Given the description of an element on the screen output the (x, y) to click on. 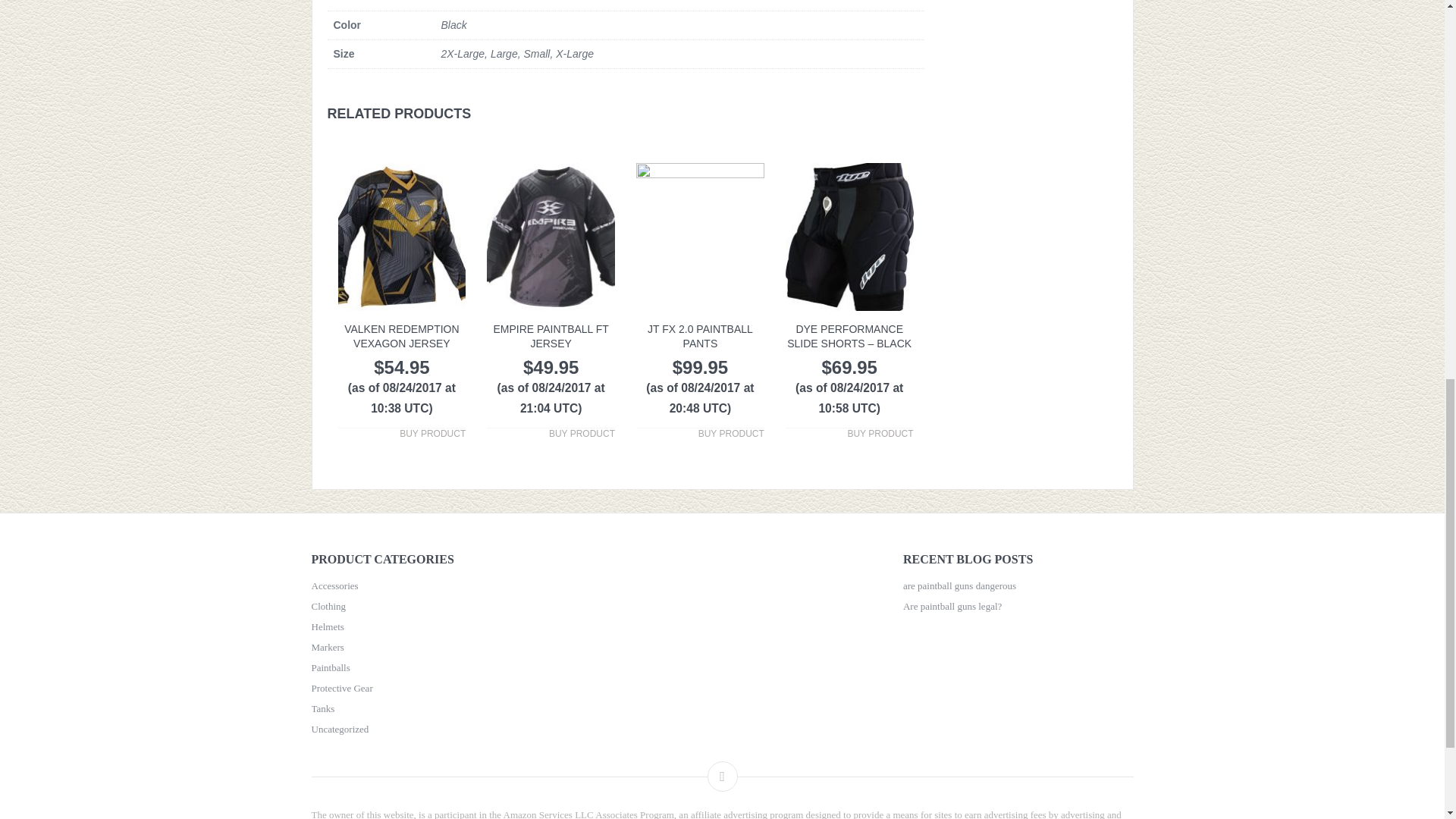
BUY PRODUCT (731, 434)
Large (504, 53)
BUY PRODUCT (581, 434)
Small (536, 53)
BUY PRODUCT (879, 434)
X-Large (575, 53)
BUY PRODUCT (431, 434)
2X-Large (462, 53)
